Given the description of an element on the screen output the (x, y) to click on. 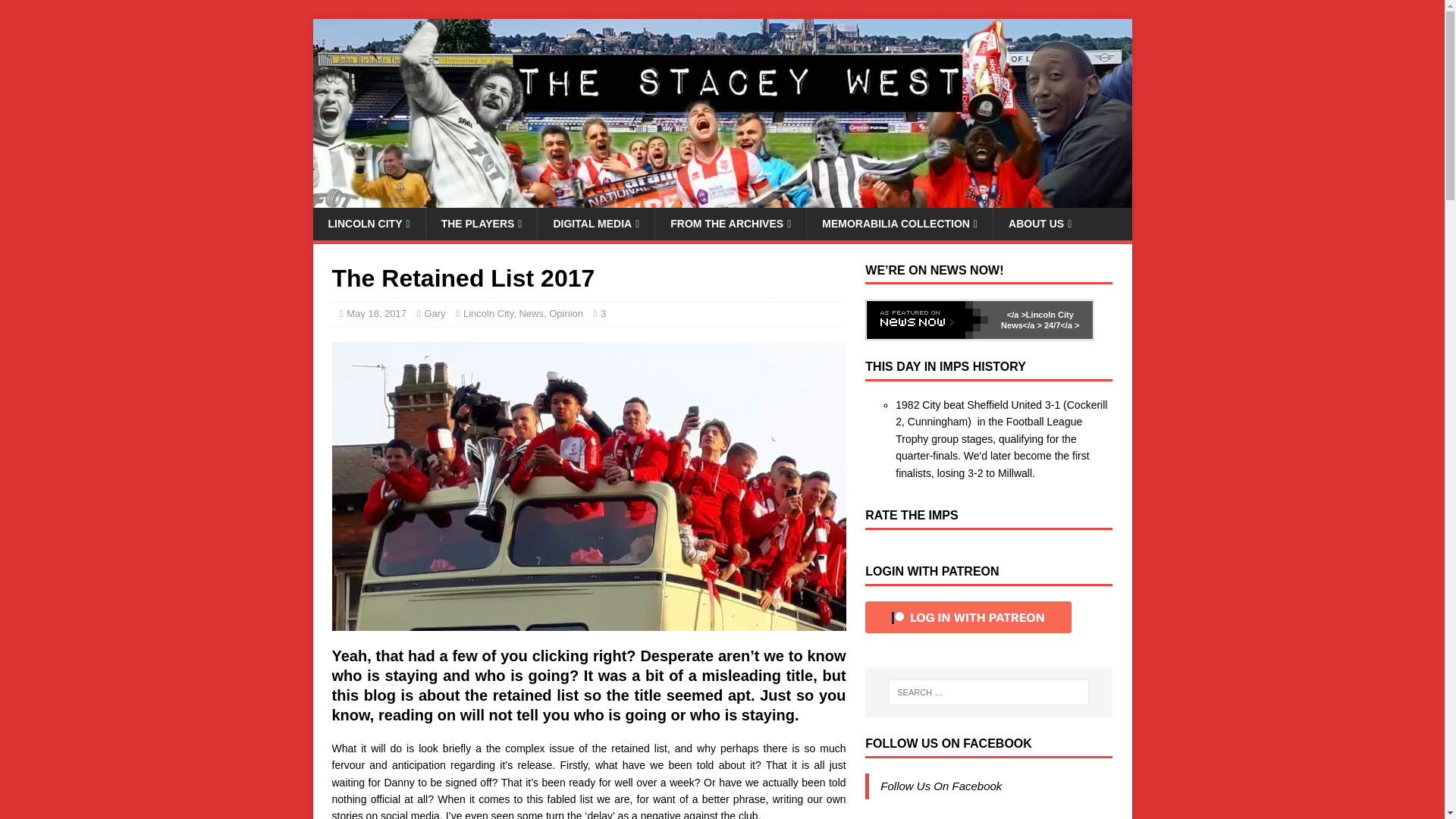
Click here for more Lincoln City news from NewsNow (927, 320)
THE PLAYERS (481, 223)
The Stacey West (722, 199)
FROM THE ARCHIVES (729, 223)
Click here for more Lincoln City news from NewsNow (1061, 325)
LINCOLN CITY (369, 223)
Click here for more Lincoln City news from NewsNow (1037, 320)
DIGITAL MEDIA (595, 223)
Click here for more Lincoln City news from NewsNow (1016, 314)
